Given the description of an element on the screen output the (x, y) to click on. 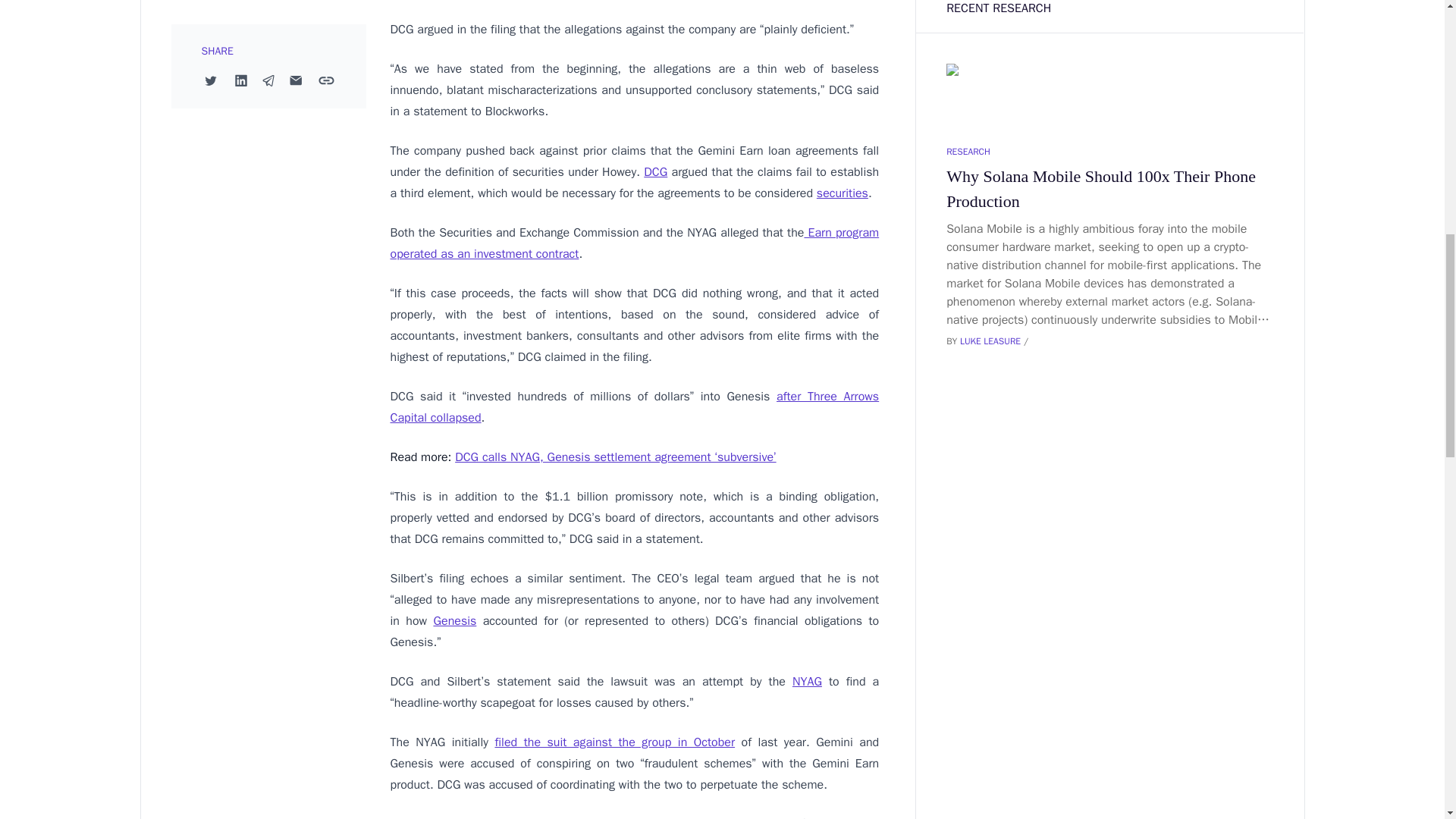
Genesis (454, 620)
DCG (654, 171)
filed the suit against the group in October (615, 742)
after Three Arrows Capital collapsed (634, 407)
securities (841, 192)
Earn program operated as an investment contract (634, 243)
NYAG (807, 681)
